Given the description of an element on the screen output the (x, y) to click on. 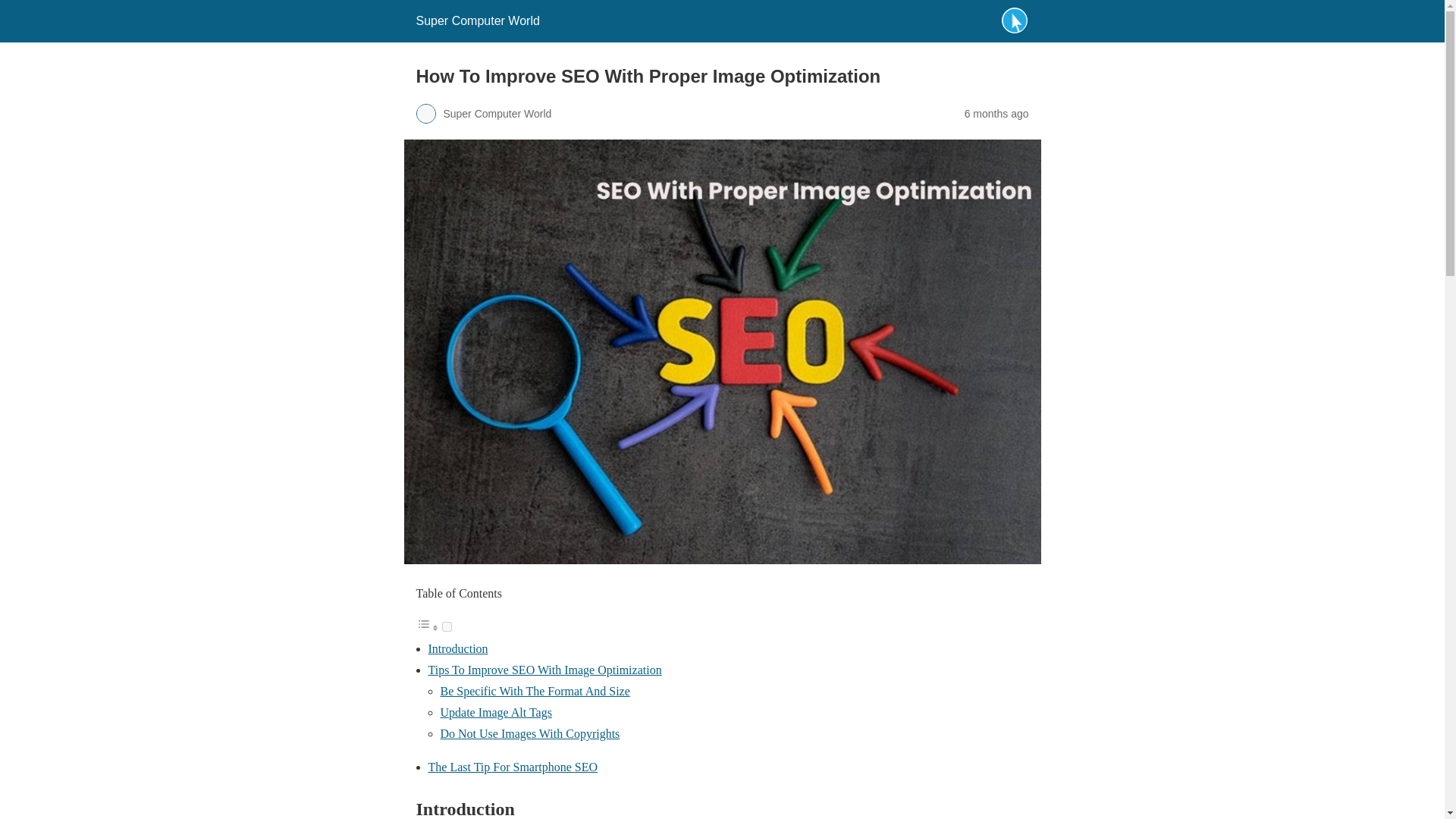
Tips To Improve SEO With Image Optimization (544, 669)
on (446, 626)
Update Image Alt Tags (495, 712)
Be Specific With The Format And Size (533, 690)
Introduction (457, 648)
Tips To Improve SEO With Image Optimization (544, 669)
Do Not Use Images With Copyrights (529, 733)
The Last Tip For Smartphone SEO (512, 766)
Be Specific With The Format And Size (533, 690)
Do Not Use Images With Copyrights (529, 733)
